Given the description of an element on the screen output the (x, y) to click on. 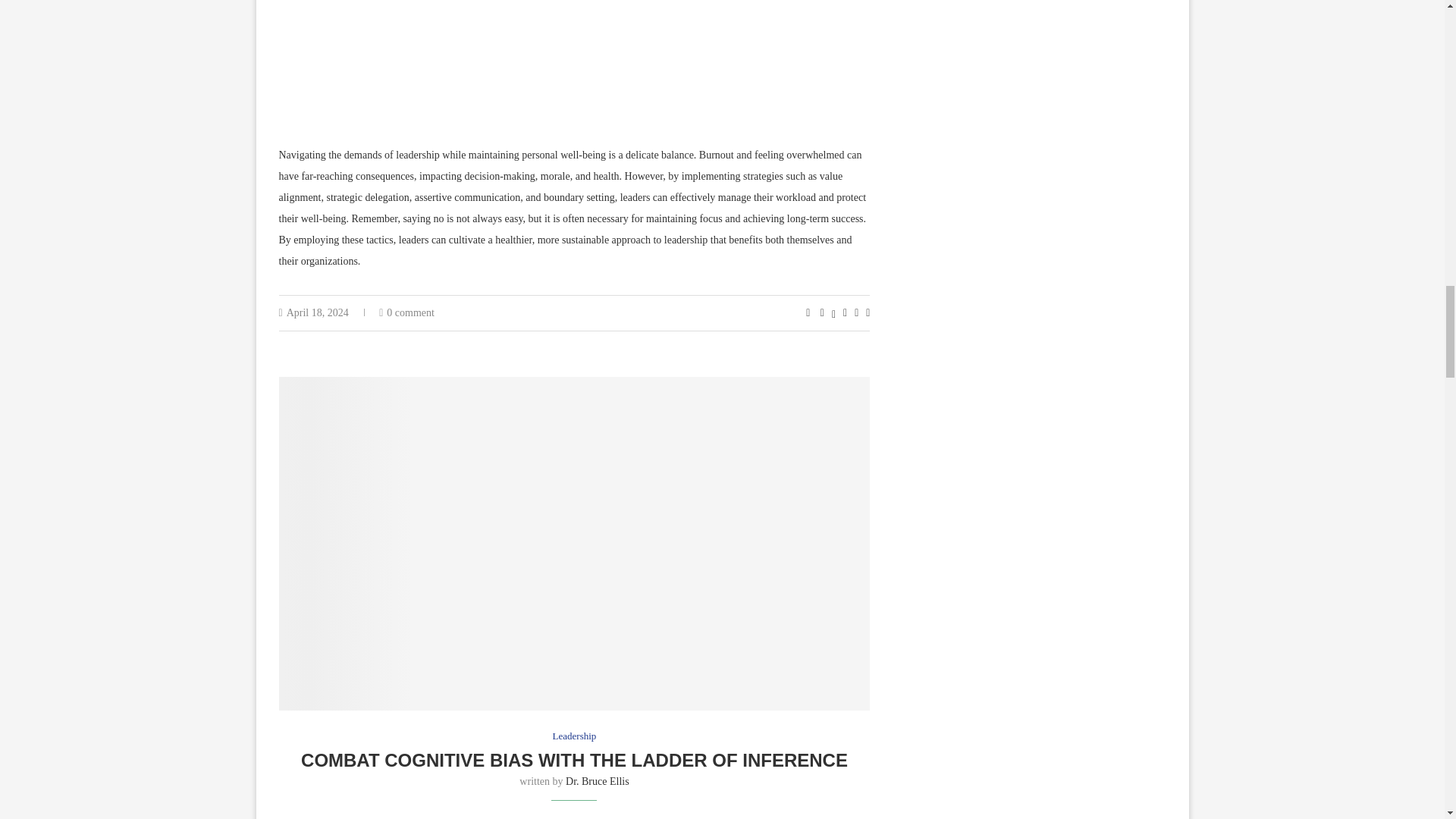
0 comment (405, 312)
